Given the description of an element on the screen output the (x, y) to click on. 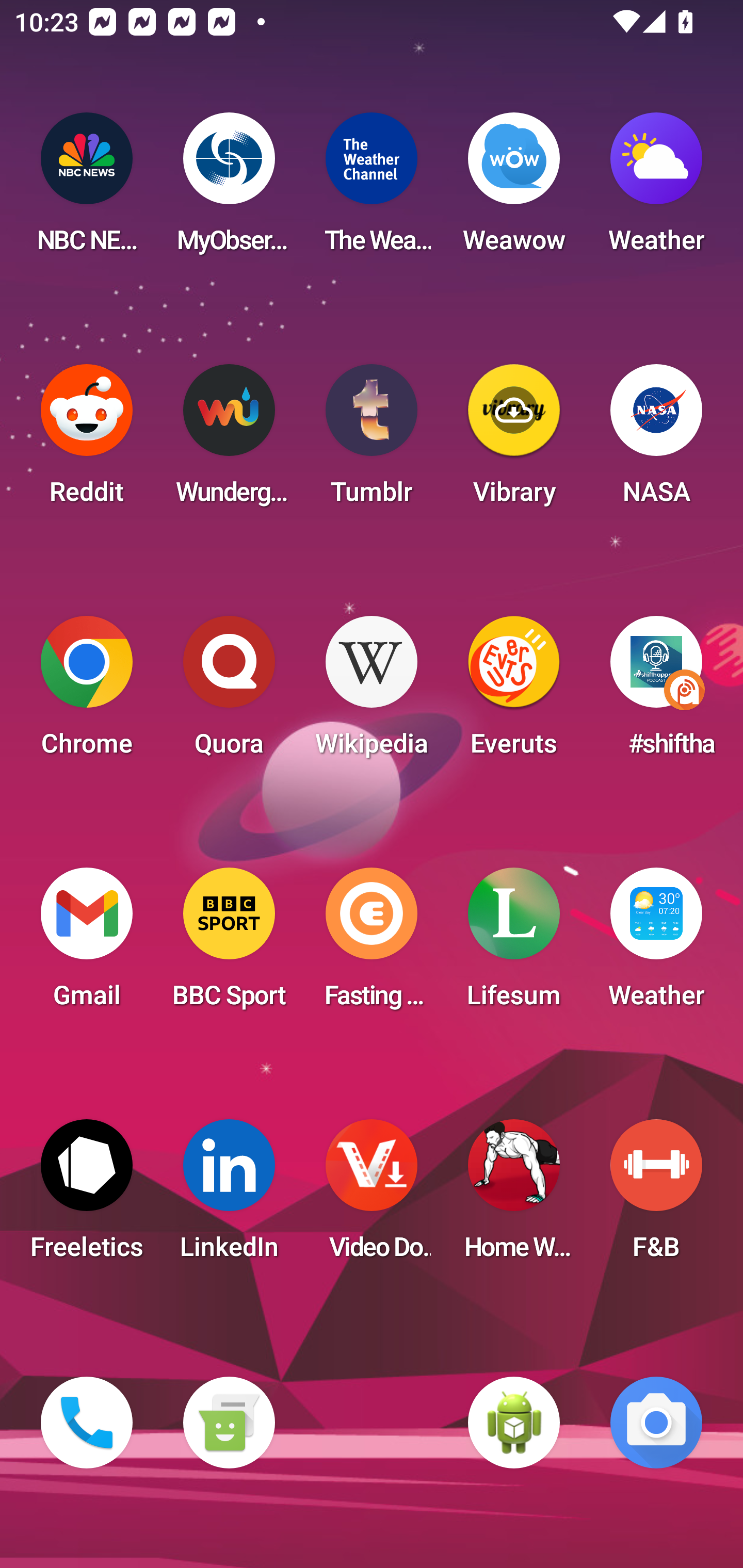
NBC NEWS (86, 188)
MyObservatory (228, 188)
The Weather Channel (371, 188)
Weawow (513, 188)
Weather (656, 188)
Reddit (86, 440)
Wunderground (228, 440)
Tumblr (371, 440)
Vibrary (513, 440)
NASA (656, 440)
Chrome (86, 692)
Quora (228, 692)
Wikipedia (371, 692)
Everuts (513, 692)
#shifthappens in the Digital Workplace Podcast (656, 692)
Gmail (86, 943)
BBC Sport (228, 943)
Fasting Coach (371, 943)
Lifesum (513, 943)
Weather (656, 943)
Freeletics (86, 1195)
LinkedIn (228, 1195)
Video Downloader & Ace Player (371, 1195)
Home Workout (513, 1195)
F&B (656, 1195)
Phone (86, 1422)
Messaging (228, 1422)
WebView Browser Tester (513, 1422)
Camera (656, 1422)
